Given the description of an element on the screen output the (x, y) to click on. 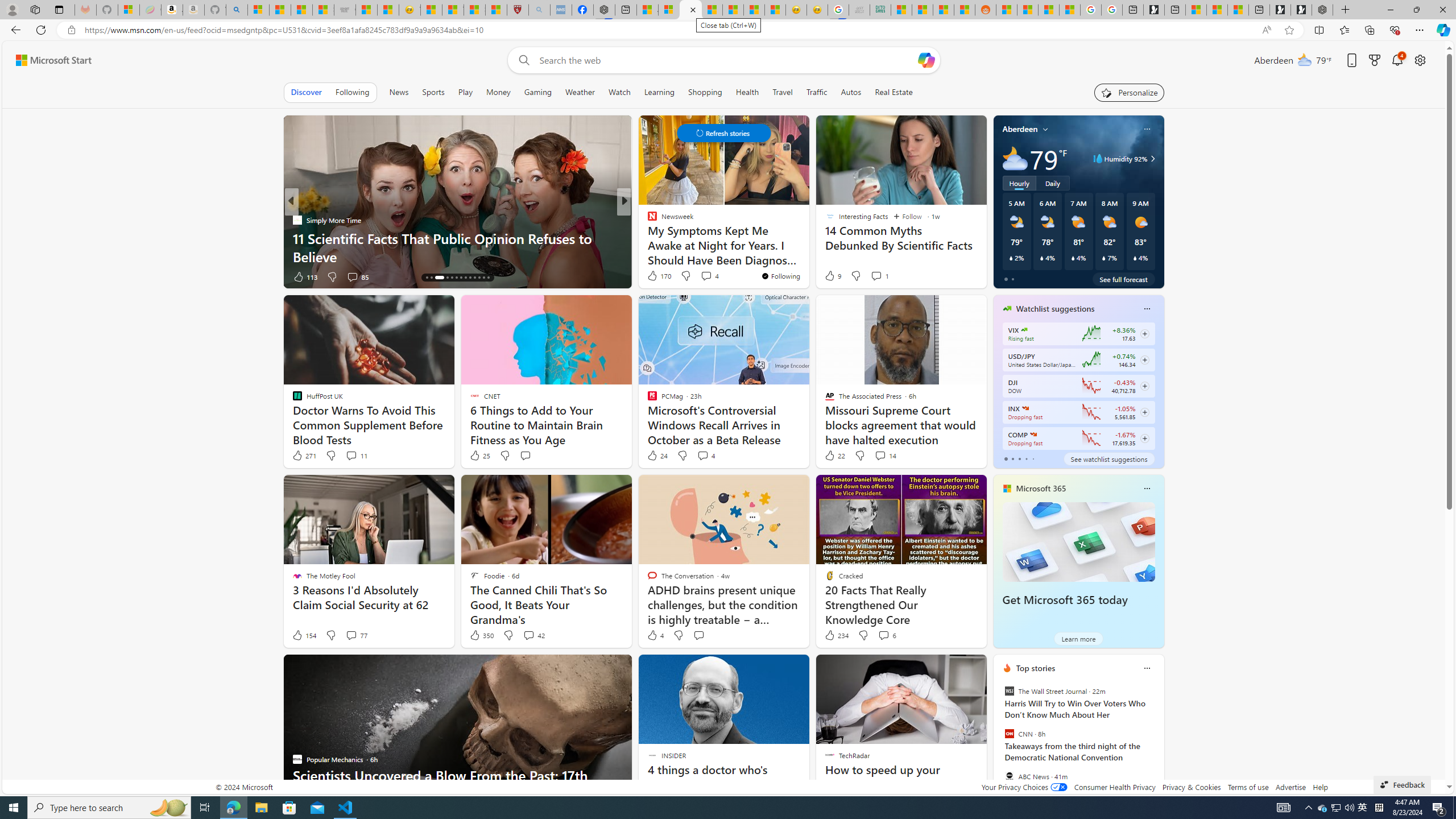
Humidity 92% (1150, 158)
234 Like (835, 634)
Popular Mechanics (647, 219)
AutomationID: tab-23 (474, 277)
View comments 42 Comment (533, 634)
Robert H. Shmerling, MD - Harvard Health (517, 9)
AutomationID: tab-24 (478, 277)
tab-3 (1025, 458)
